Given the description of an element on the screen output the (x, y) to click on. 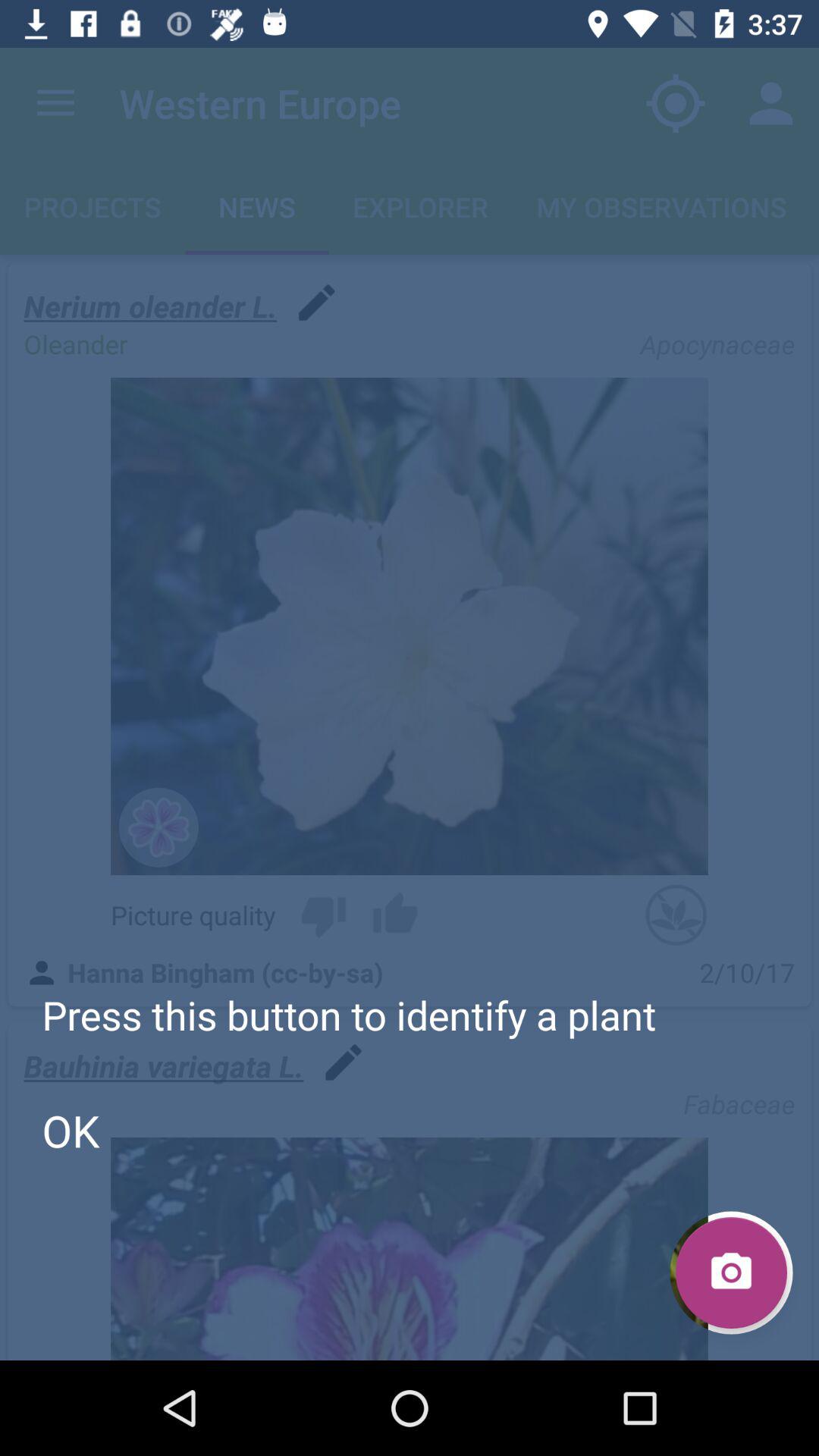
tap icon above hanna bingham cc (395, 914)
